Given the description of an element on the screen output the (x, y) to click on. 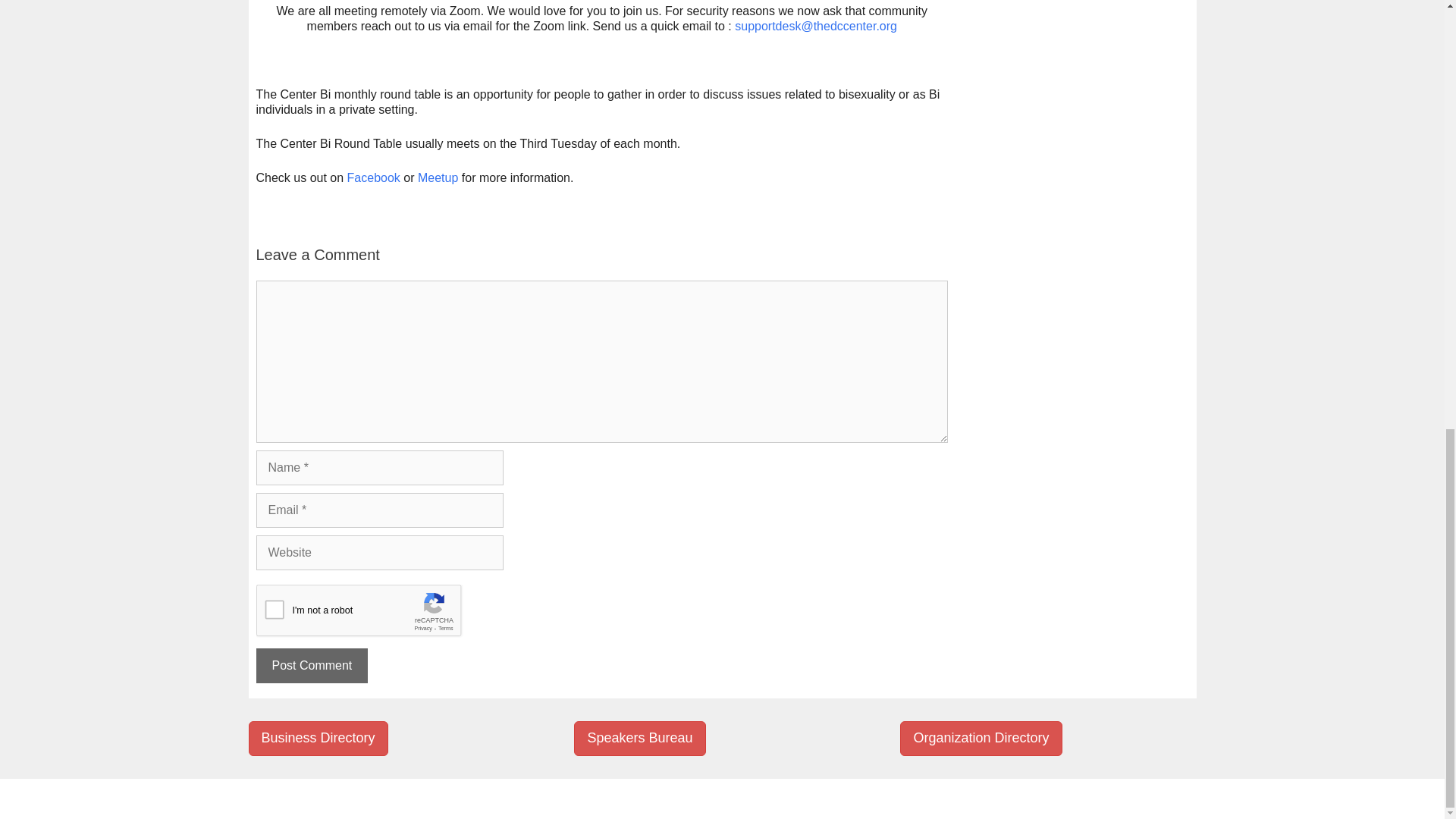
Scroll back to top (1406, 634)
reCAPTCHA (371, 613)
Post Comment (312, 665)
